Given the description of an element on the screen output the (x, y) to click on. 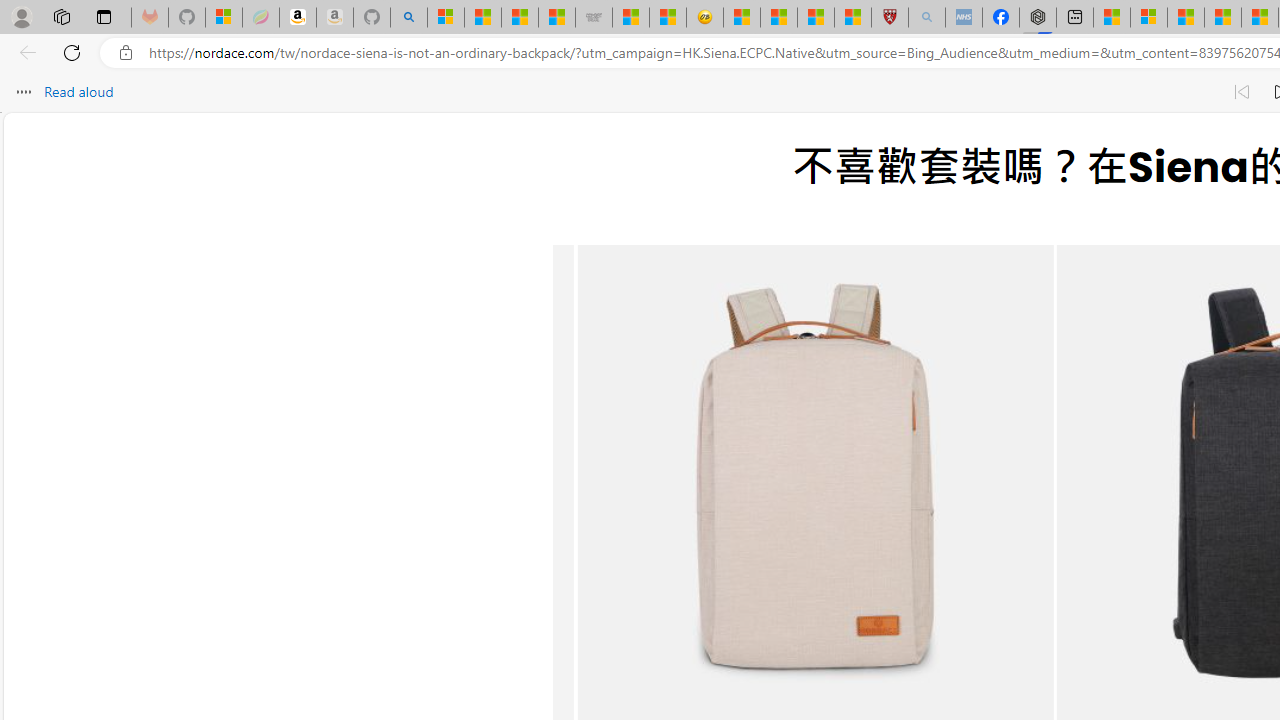
Recipes - MSN (742, 17)
